Given the description of an element on the screen output the (x, y) to click on. 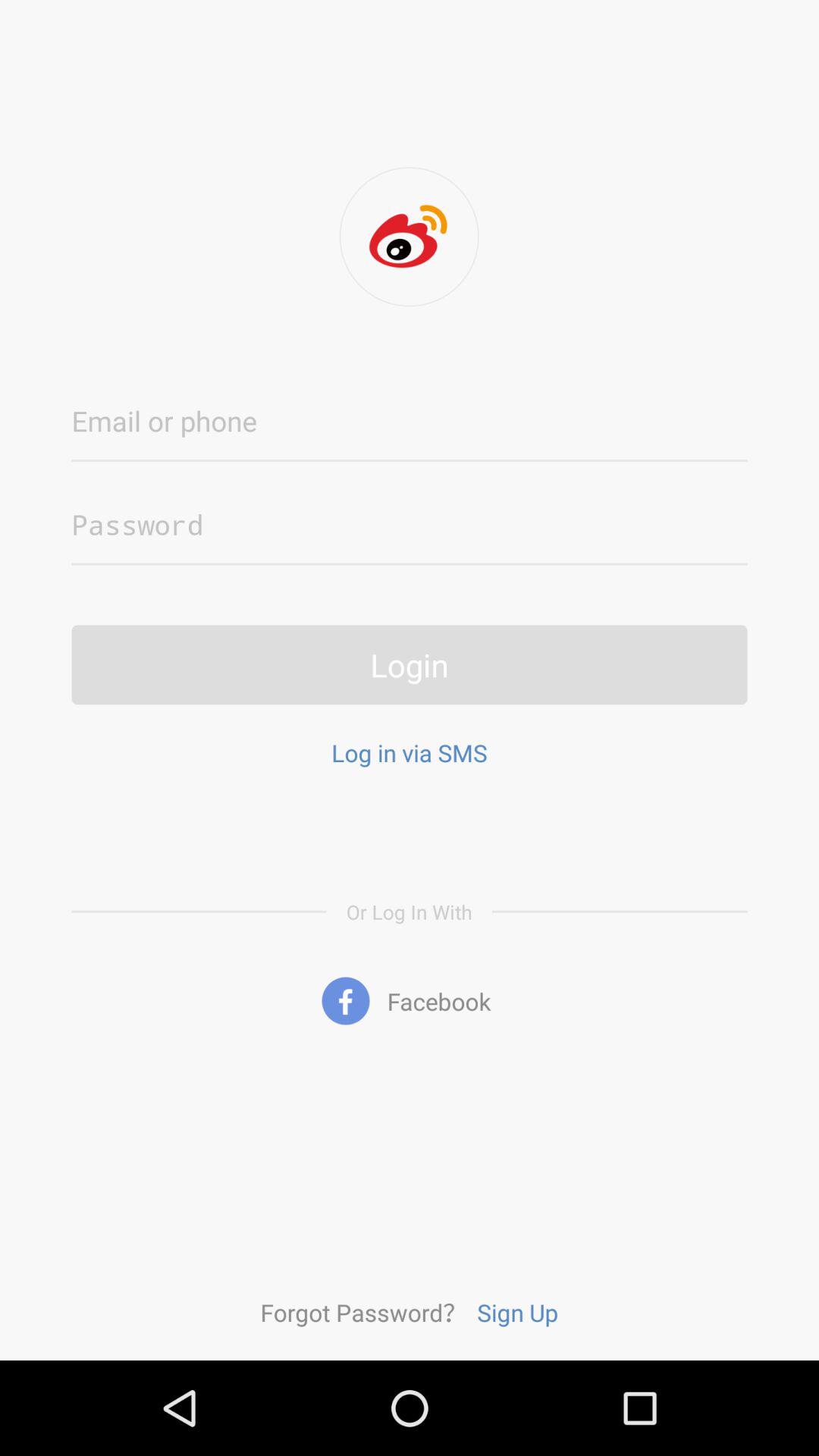
tap icon below facebook icon (517, 1312)
